Given the description of an element on the screen output the (x, y) to click on. 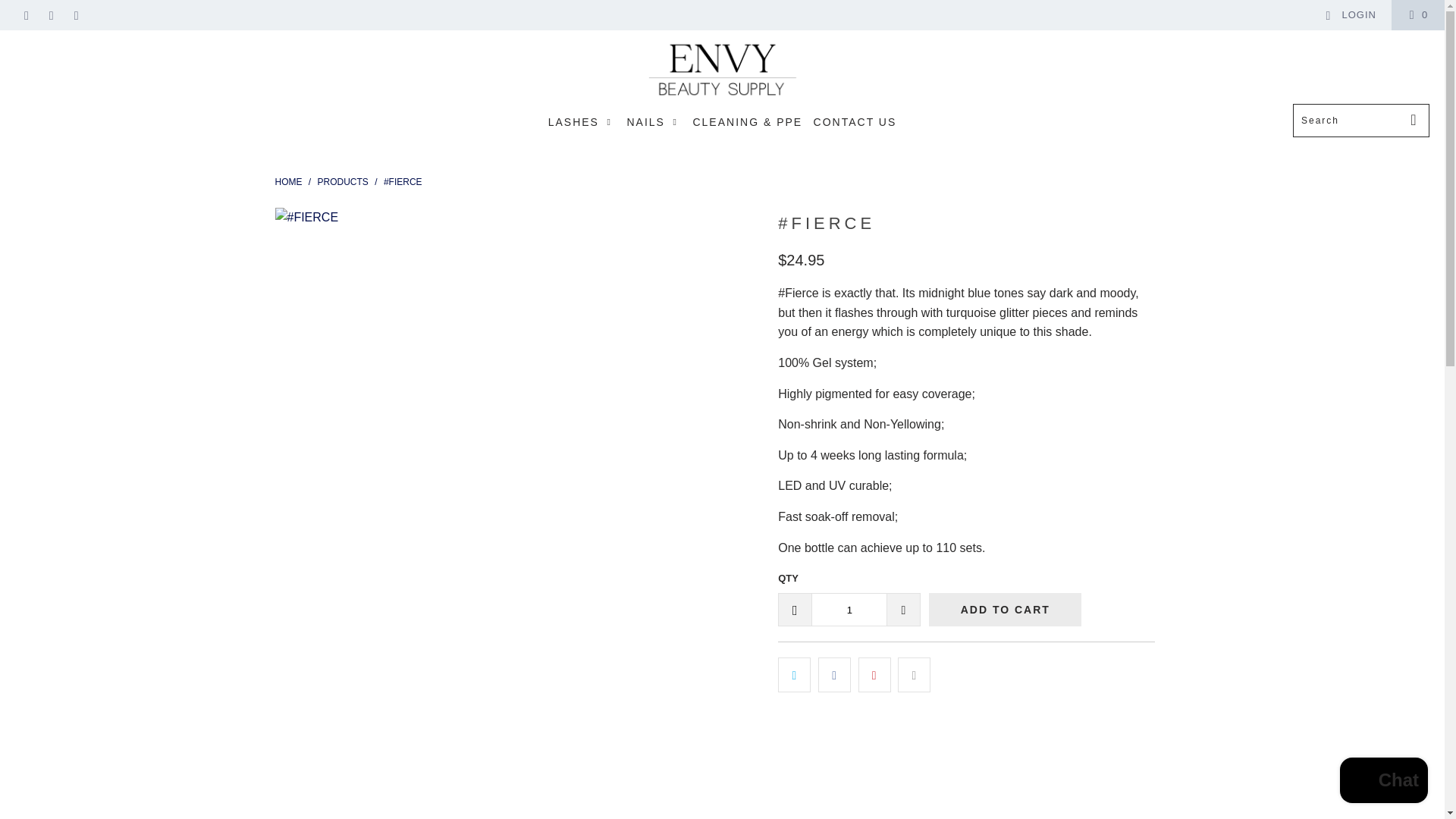
Envy Beauty Supply (721, 70)
Share this on Twitter (793, 674)
Share this on Facebook (834, 674)
Share this on Pinterest (875, 674)
My Account  (1350, 15)
Products (342, 181)
Email this to a friend (914, 674)
Envy Beauty Supply on Facebook (25, 14)
Envy Beauty Supply on Instagram (50, 14)
Email Envy Beauty Supply (75, 14)
